Given the description of an element on the screen output the (x, y) to click on. 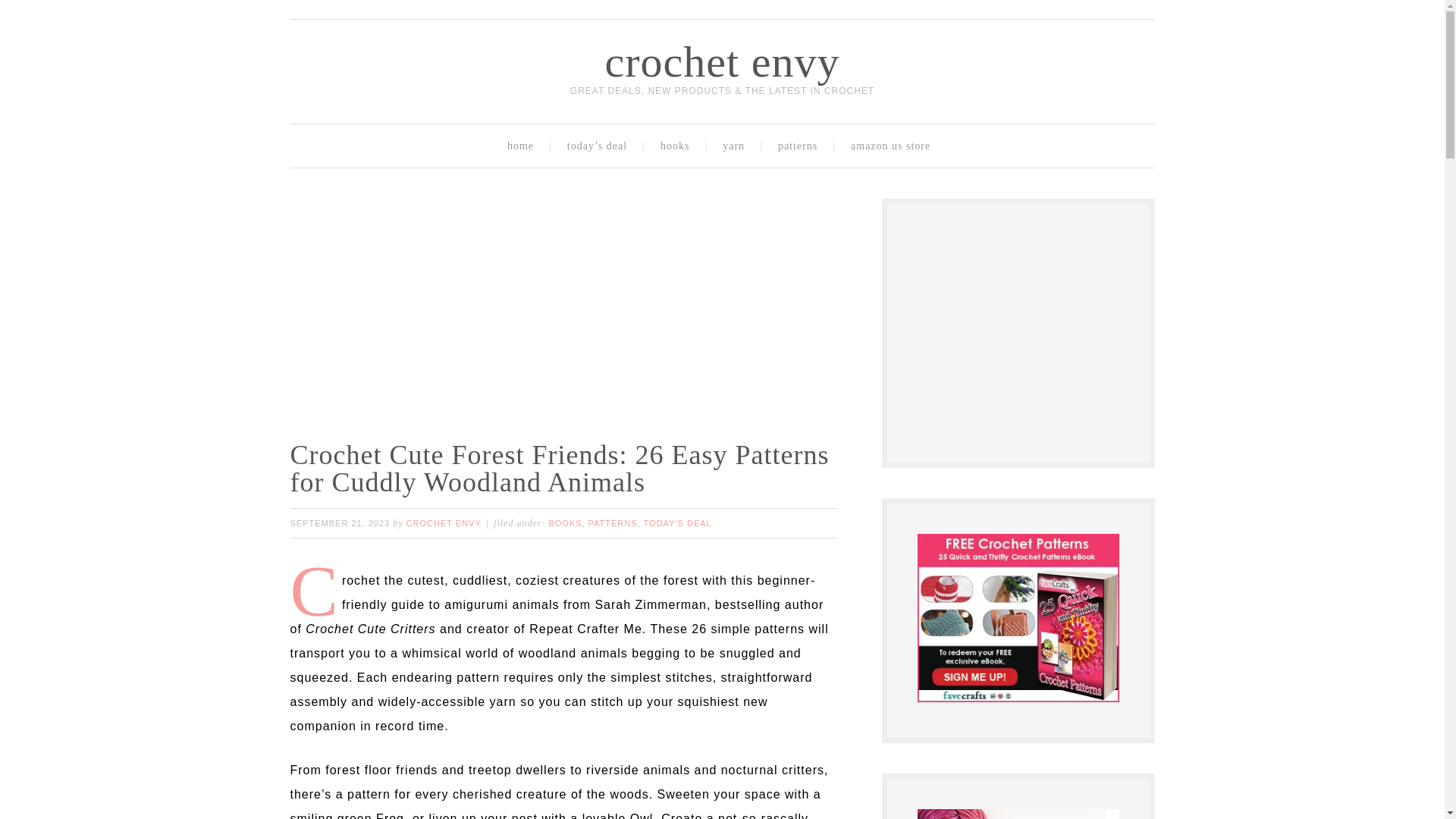
home (523, 145)
TODAY'S DEAL (677, 522)
BOOKS (564, 522)
Advertisement (1030, 329)
crochet envy (722, 61)
yarn (736, 145)
patterns (801, 145)
amazon us store (894, 145)
PATTERNS (612, 522)
